Given the description of an element on the screen output the (x, y) to click on. 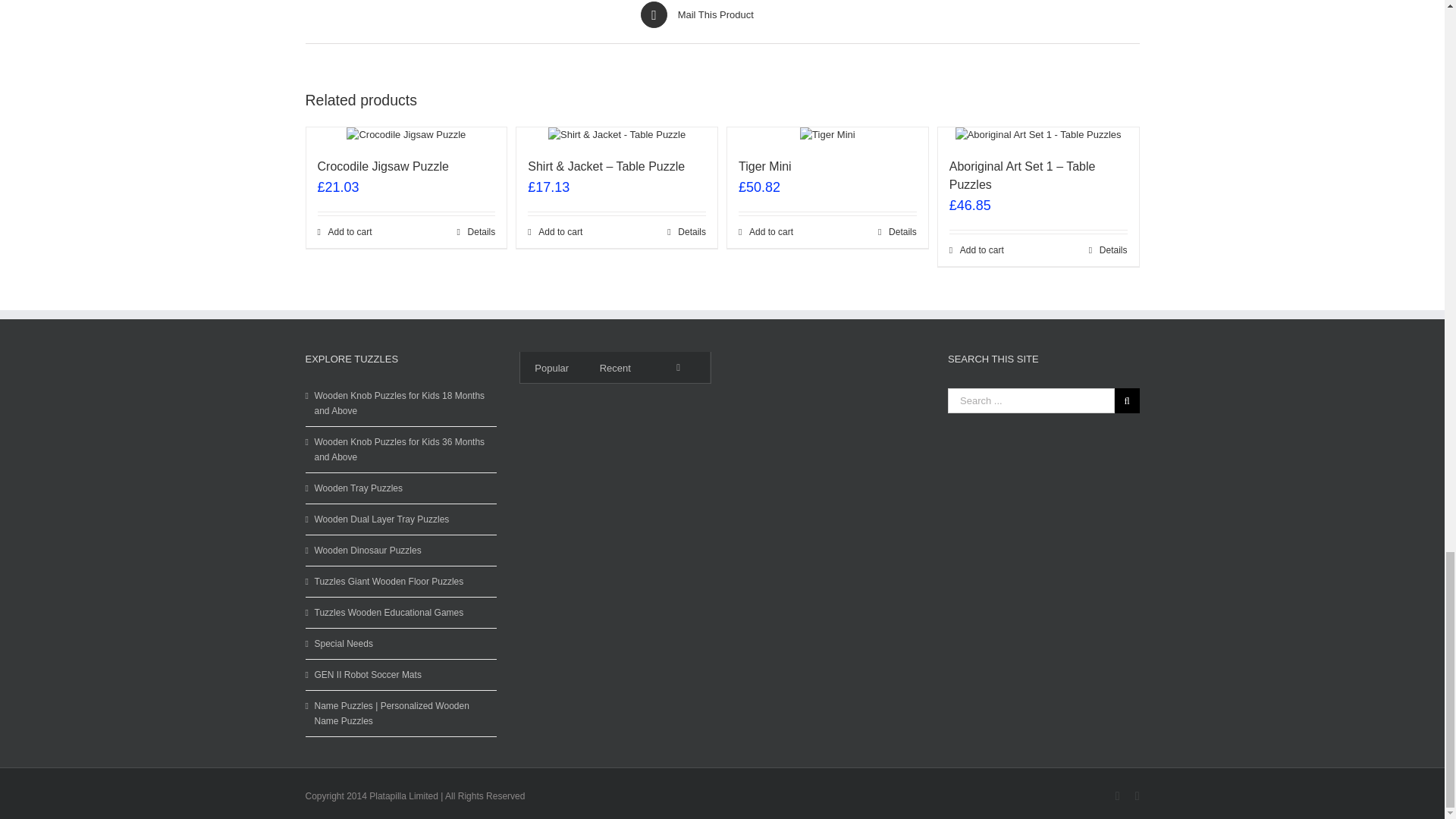
Crocodile Jigsaw Puzzle (382, 165)
Add to cart (554, 232)
Mail This Product (721, 14)
Add to cart (344, 232)
Details (686, 232)
Details (897, 232)
Details (476, 232)
Tiger Mini (765, 165)
Add to cart (765, 232)
